Given the description of an element on the screen output the (x, y) to click on. 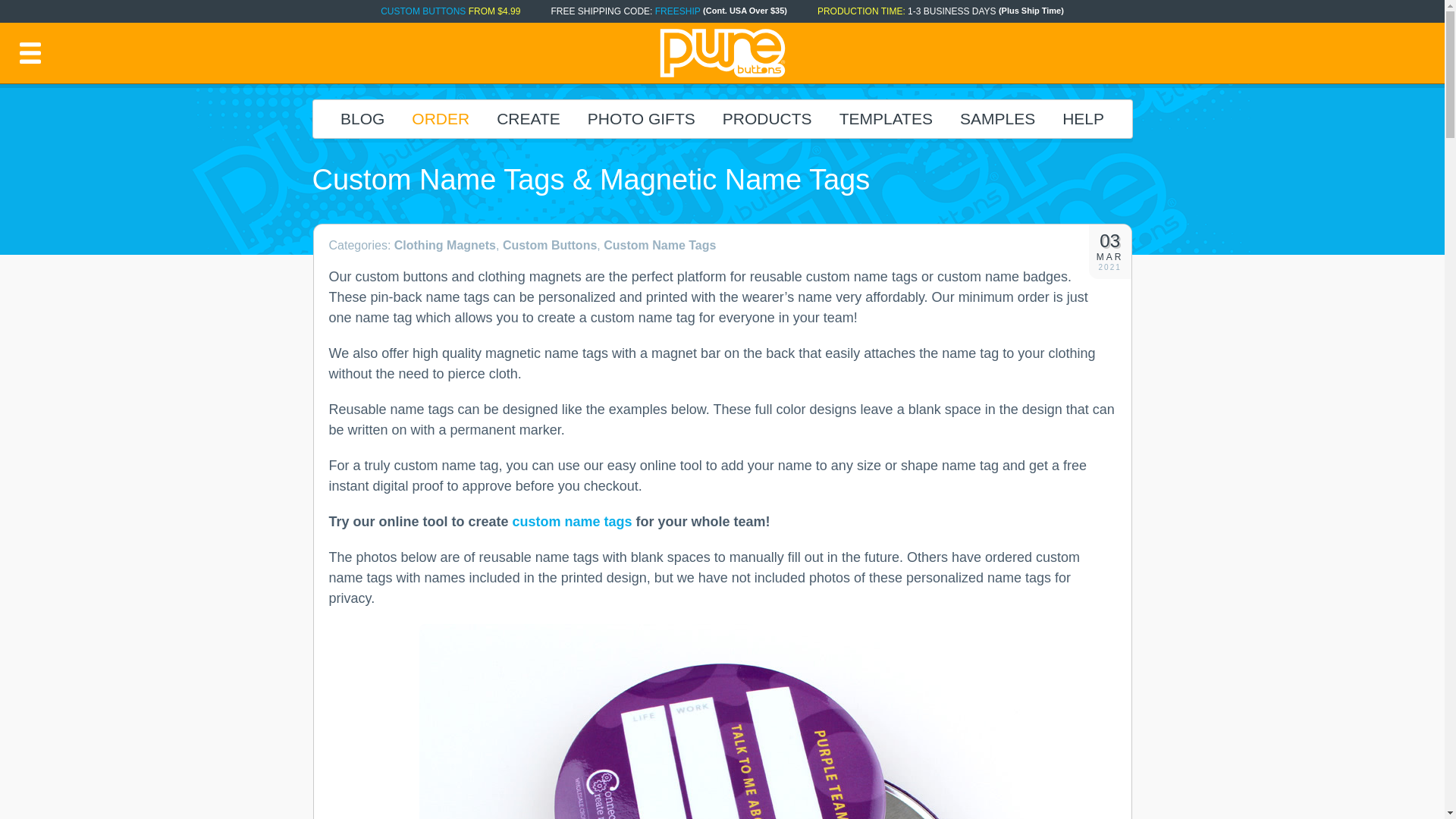
Navigation (30, 52)
SAMPLES (997, 118)
FREESHIP (677, 11)
HELP (1083, 118)
CUSTOM BUTTONS (422, 11)
Pure Buttons (722, 52)
PHOTO GIFTS (641, 118)
PRODUCTS (767, 118)
BLOG (361, 118)
TEMPLATES (885, 118)
